Given the description of an element on the screen output the (x, y) to click on. 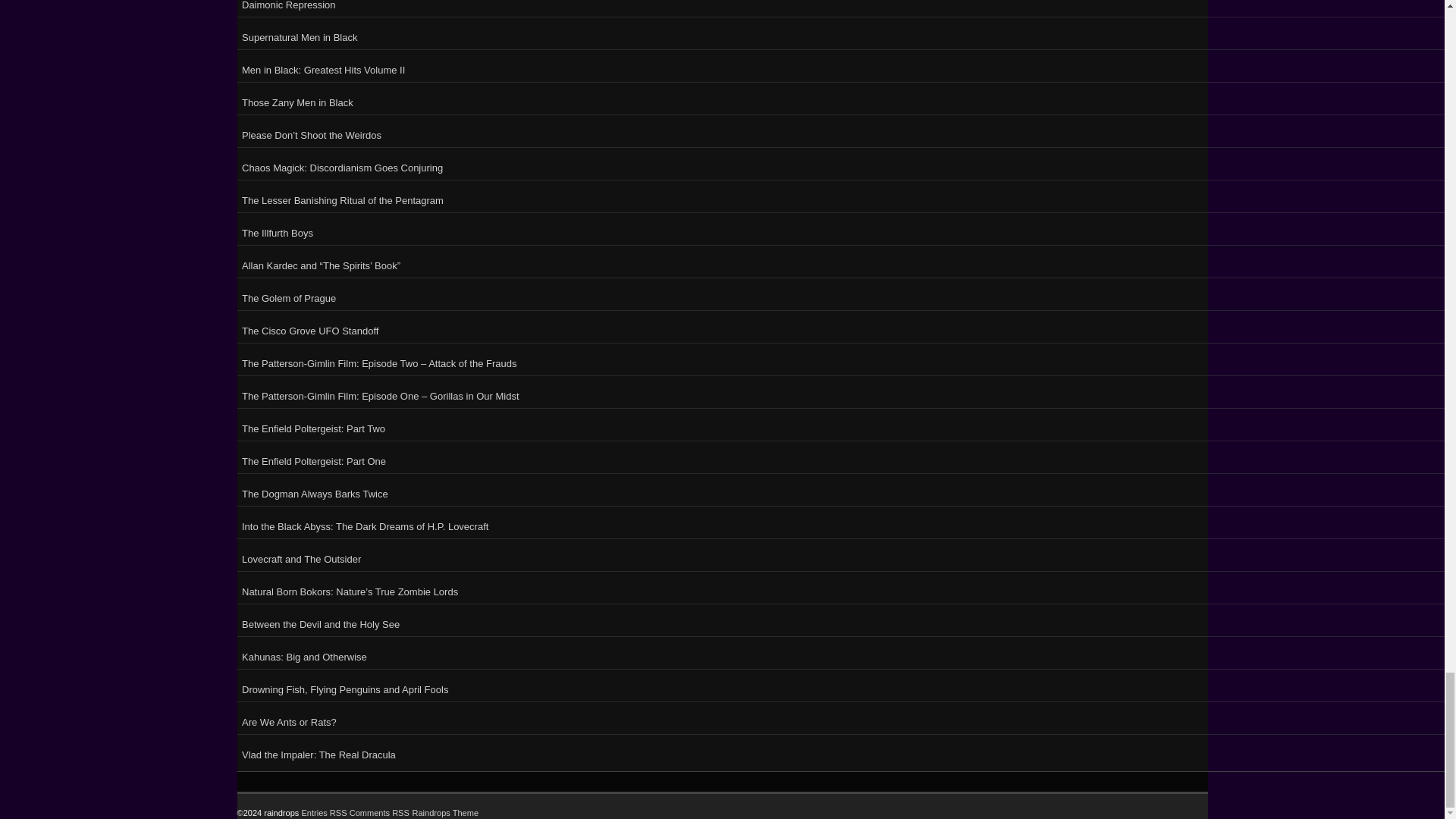
Supernatural Men in Black (845, 35)
Daimonic Repression (845, 8)
Men in Black: Greatest Hits Volume II (845, 67)
Chaos Magick: Discordianism Goes Conjuring (845, 165)
Those Zany Men in Black (845, 100)
